Given the description of an element on the screen output the (x, y) to click on. 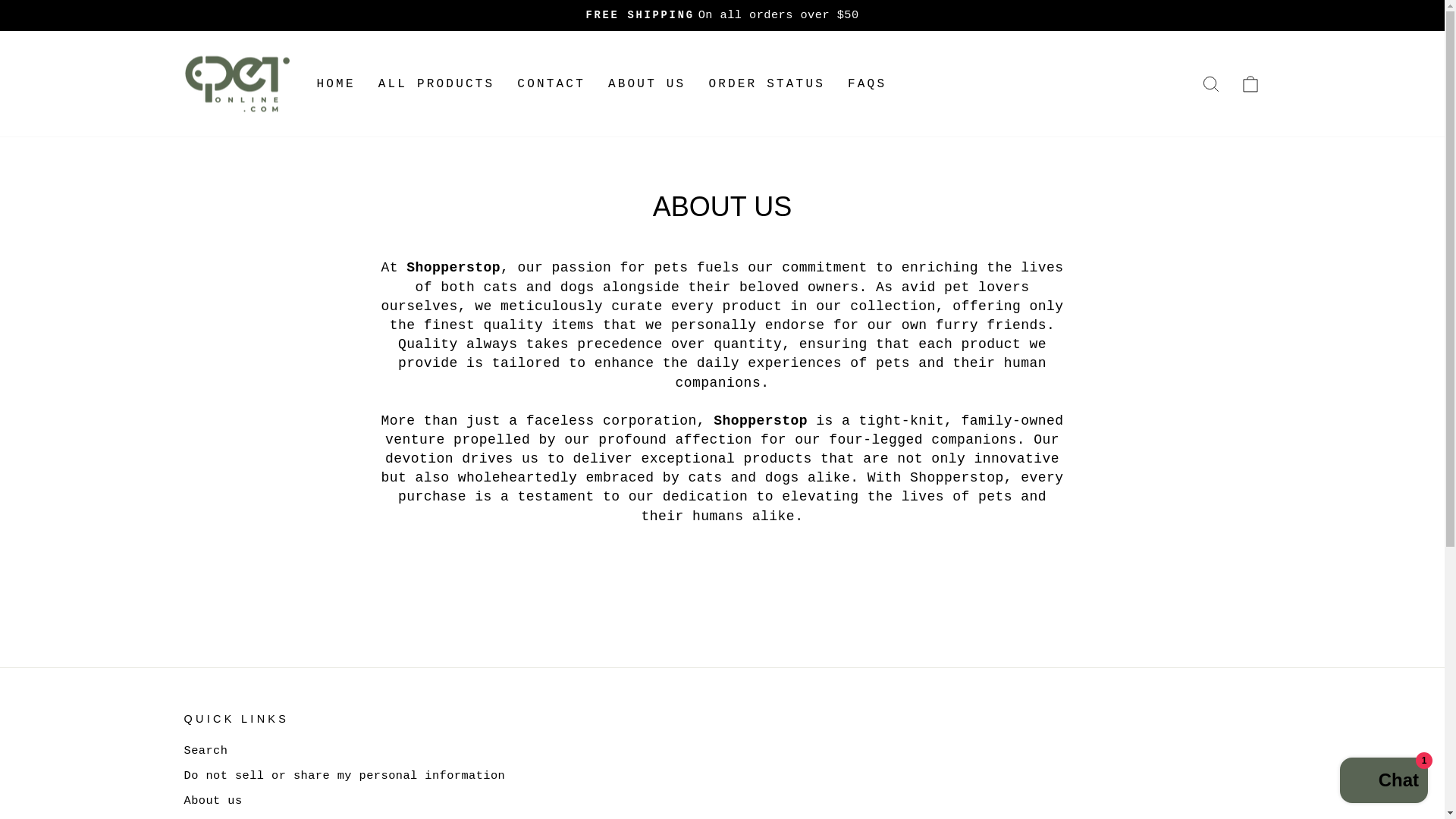
About us (212, 801)
Terms of Service (1249, 83)
ALL PRODUCTS (241, 816)
Shopify online store chat (436, 83)
ORDER STATUS (1383, 781)
ICON-BAG-MINIMAL (766, 83)
Search (1249, 84)
HOME (205, 751)
FAQS (1210, 83)
ABOUT US (335, 83)
Do not sell or share my personal information (866, 83)
CONTACT (646, 83)
ICON-SEARCH (344, 775)
